Given the description of an element on the screen output the (x, y) to click on. 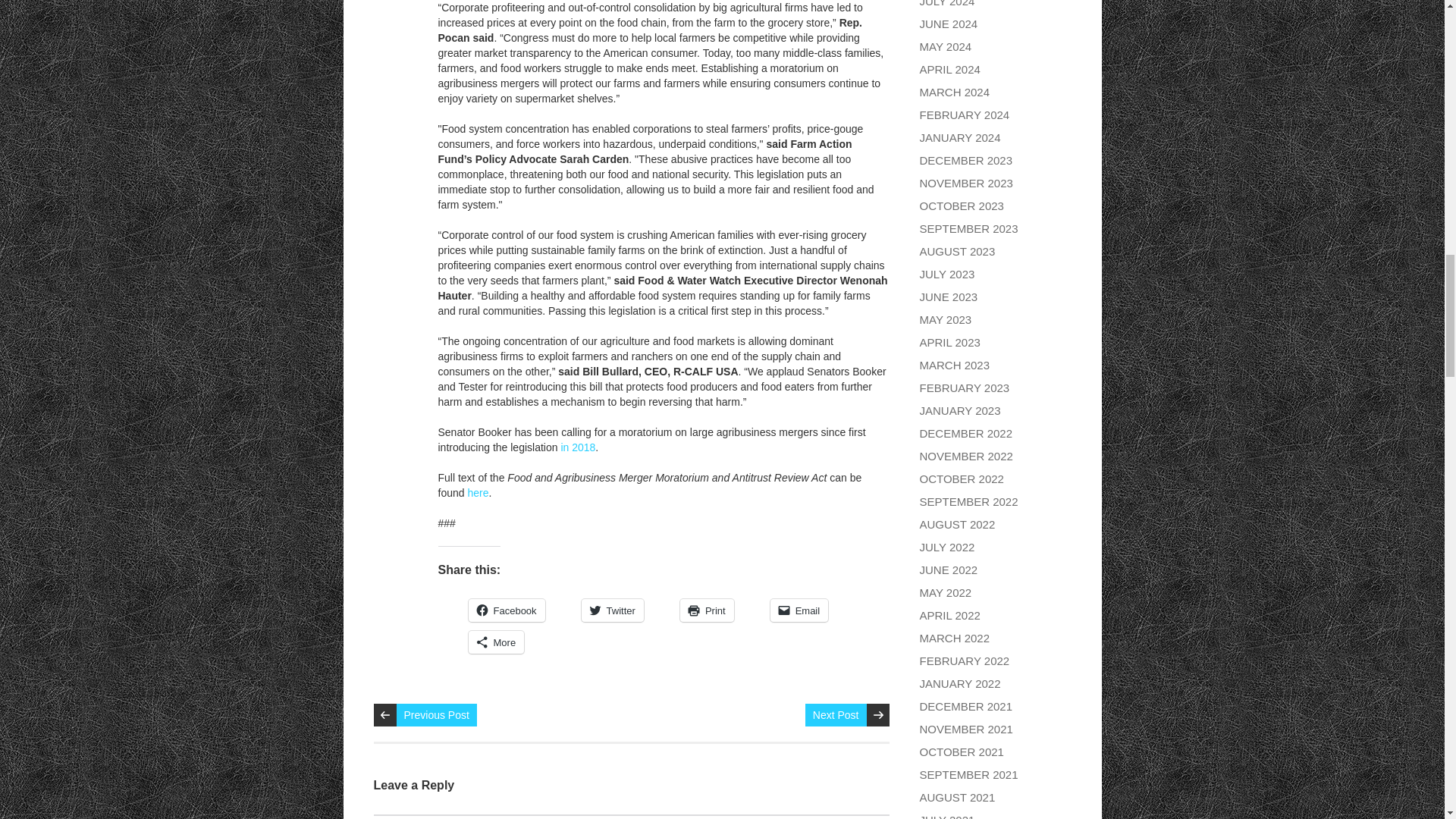
Facebook (506, 609)
in 2018 (577, 447)
JULY 2024 (946, 3)
Twitter (611, 609)
Click to share on Twitter (611, 609)
More (496, 641)
Next Post (835, 714)
JUNE 2024 (947, 23)
Click to print (706, 609)
Previous Post (436, 714)
here (477, 492)
Print (706, 609)
Click to email a link to a friend (799, 609)
Email (799, 609)
